Given the description of an element on the screen output the (x, y) to click on. 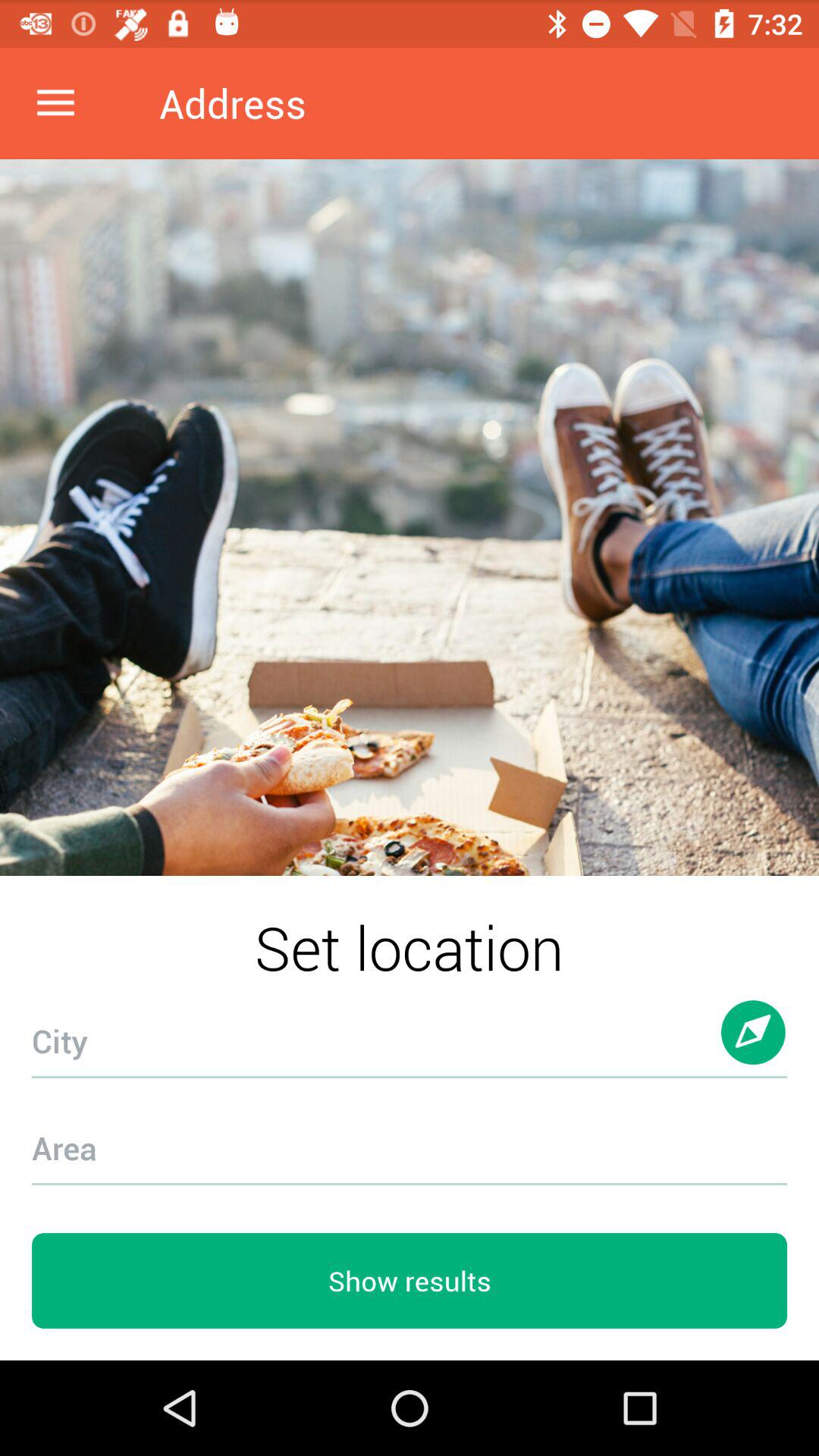
tap item above show results item (409, 1139)
